Given the description of an element on the screen output the (x, y) to click on. 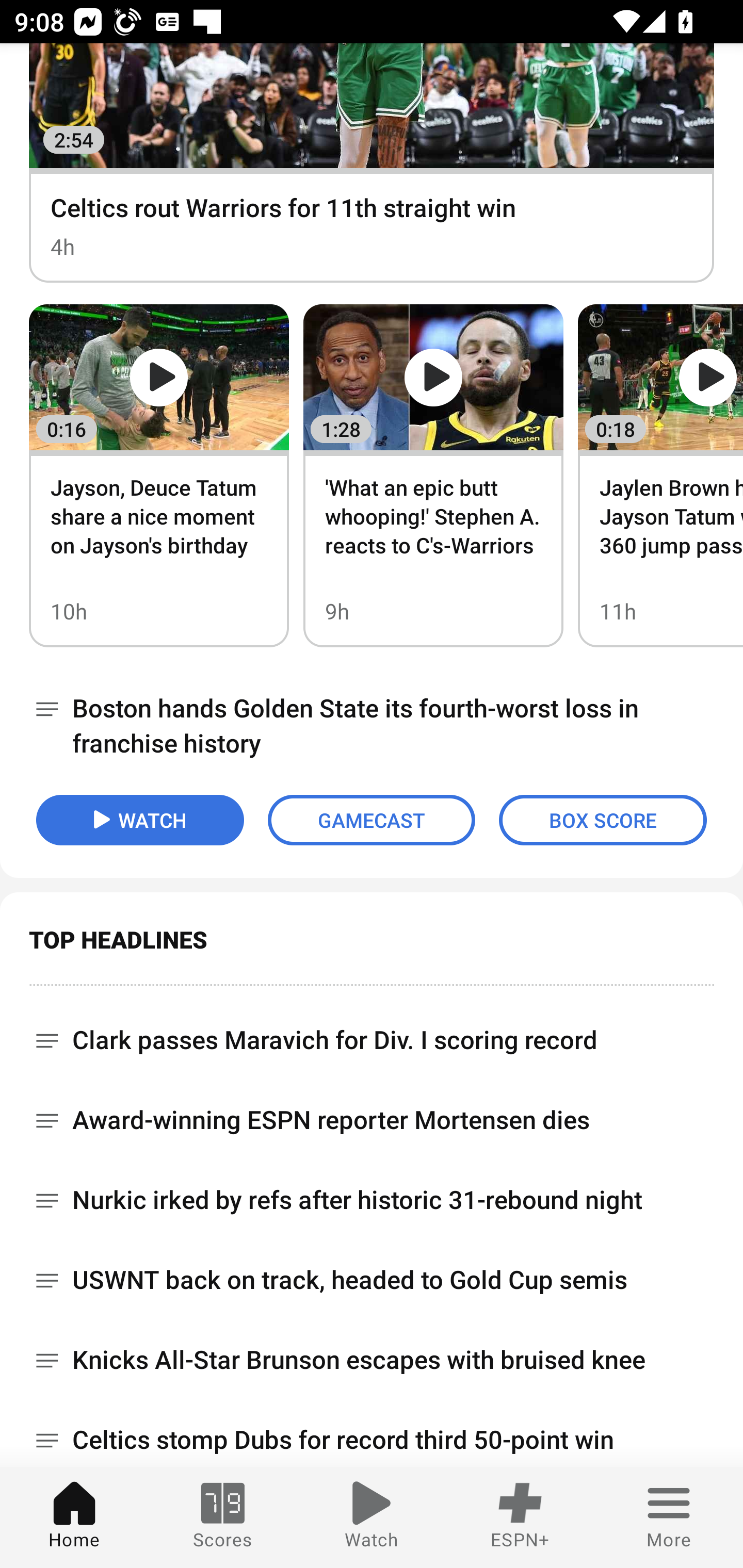
 WATCH (139, 819)
GAMECAST (371, 819)
BOX SCORE (602, 819)
 Clark passes Maravich for Div. I scoring record (371, 1033)
 Award-winning ESPN reporter Mortensen dies (371, 1120)
 USWNT back on track, headed to Gold Cup semis (371, 1280)
 Celtics stomp Dubs for record third 50-point win (371, 1433)
Scores (222, 1517)
Watch (371, 1517)
ESPN+ (519, 1517)
More (668, 1517)
